Given the description of an element on the screen output the (x, y) to click on. 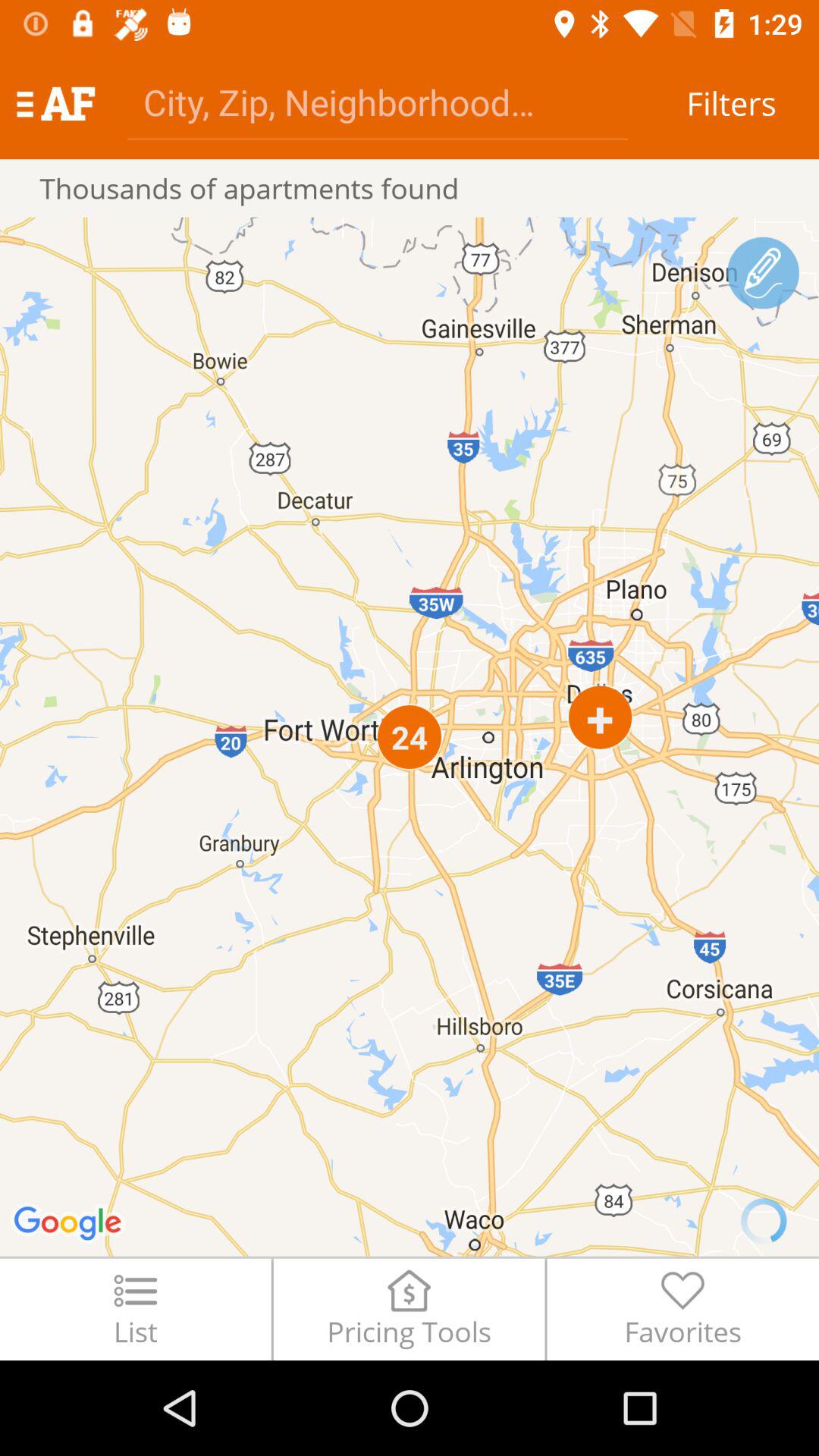
tap the filters item (731, 103)
